Given the description of an element on the screen output the (x, y) to click on. 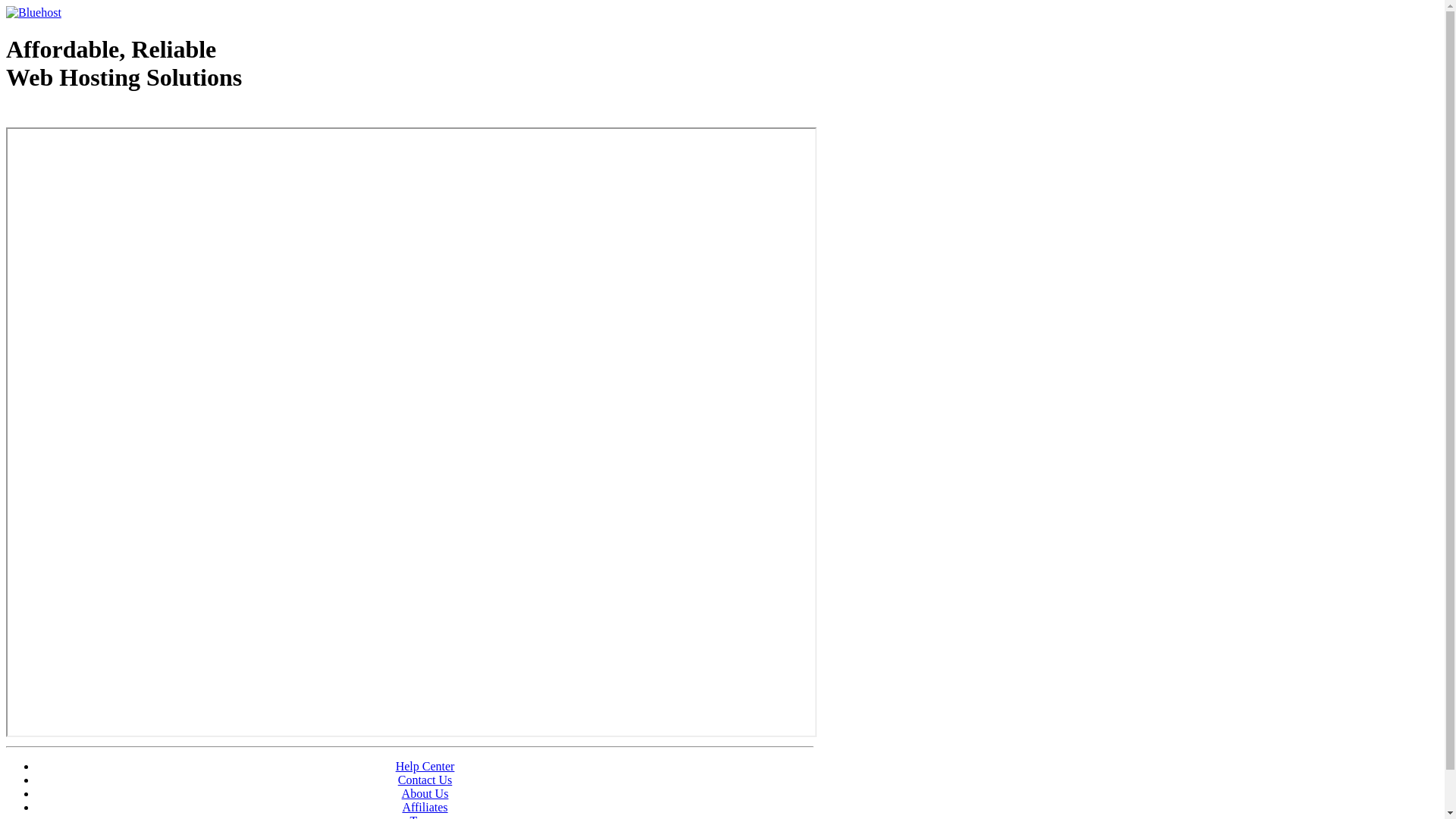
Contact Us Element type: text (425, 779)
Affiliates Element type: text (424, 806)
Web Hosting - courtesy of www.bluehost.com Element type: text (94, 115)
Help Center Element type: text (425, 765)
About Us Element type: text (424, 793)
